Given the description of an element on the screen output the (x, y) to click on. 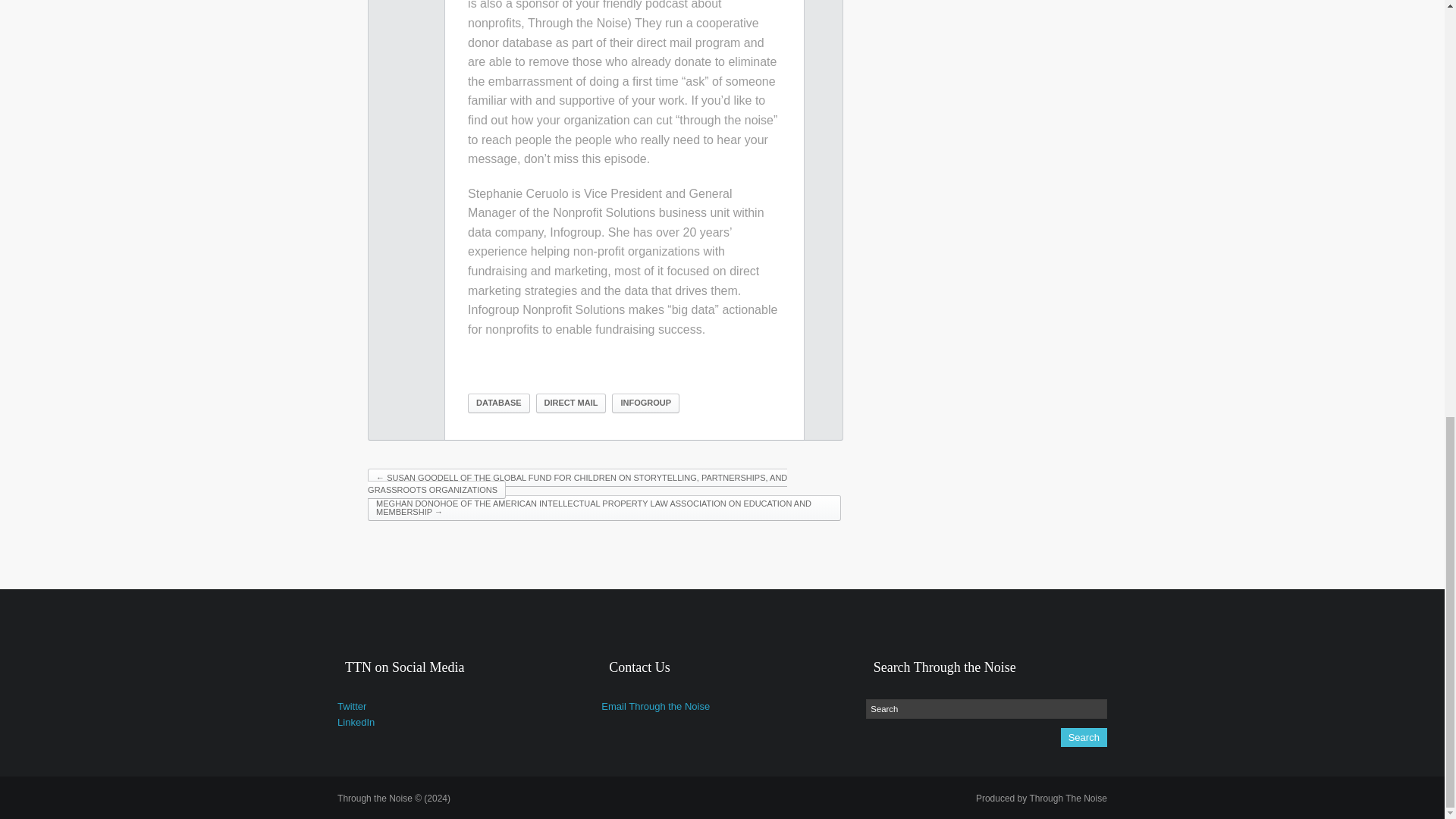
Search (1083, 737)
Search (1083, 737)
Through the Noise (393, 798)
Search (986, 709)
LinkedIn (355, 722)
Twitter (351, 706)
DIRECT MAIL (571, 402)
INFOGROUP (645, 402)
DATABASE (498, 402)
Email Through the Noise (655, 706)
Produced by Through The Noise (1040, 798)
